Given the description of an element on the screen output the (x, y) to click on. 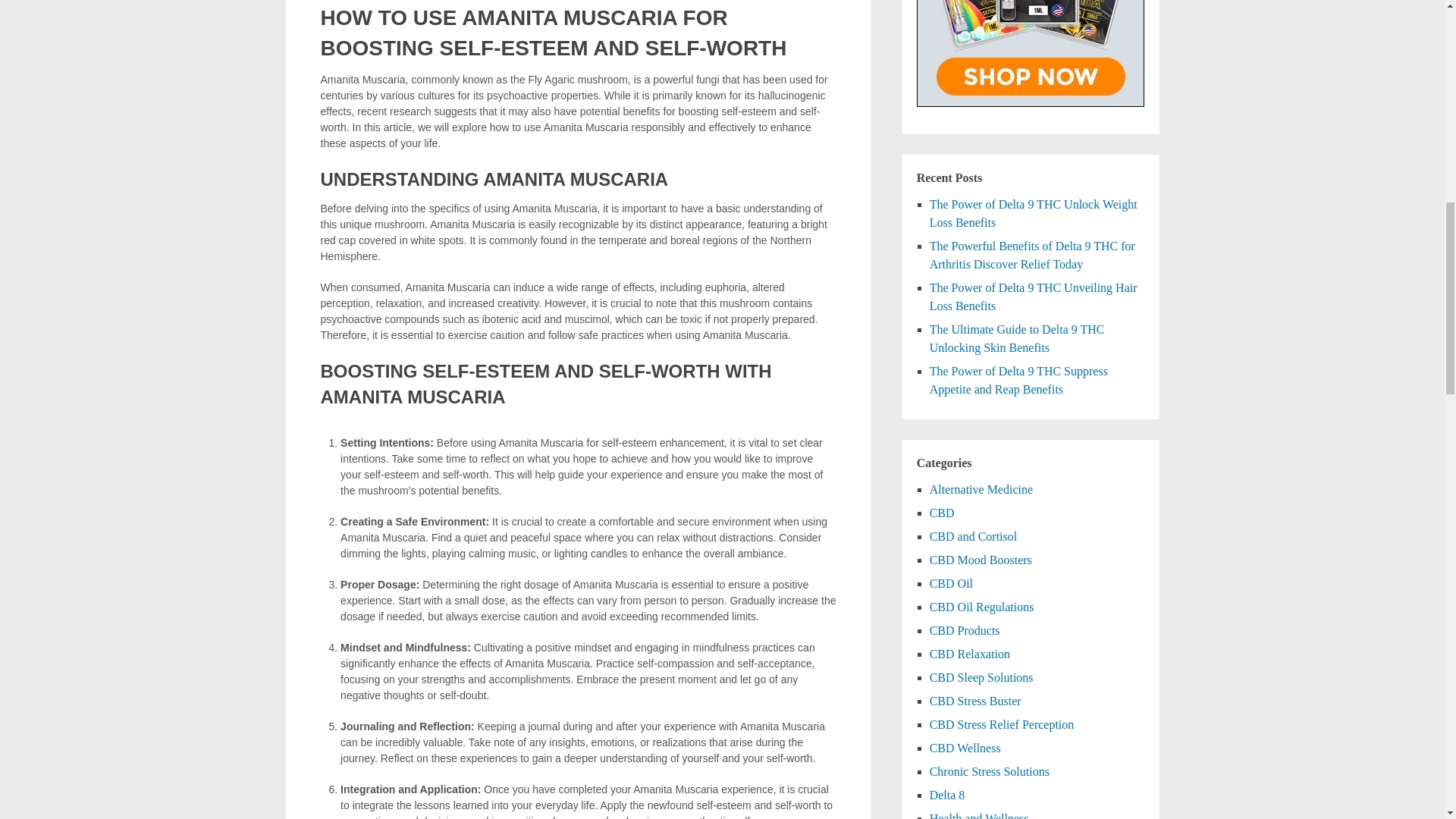
CBD and Cortisol (973, 535)
The Ultimate Guide to Delta 9 THC Unlocking Skin Benefits (1017, 337)
The Power of Delta 9 THC Unveiling Hair Loss Benefits (1033, 296)
The Power of Delta 9 THC Suppress Appetite and Reap Benefits (1019, 379)
Alternative Medicine (981, 489)
The Power of Delta 9 THC Unlock Weight Loss Benefits (1033, 213)
CBD (942, 512)
